Given the description of an element on the screen output the (x, y) to click on. 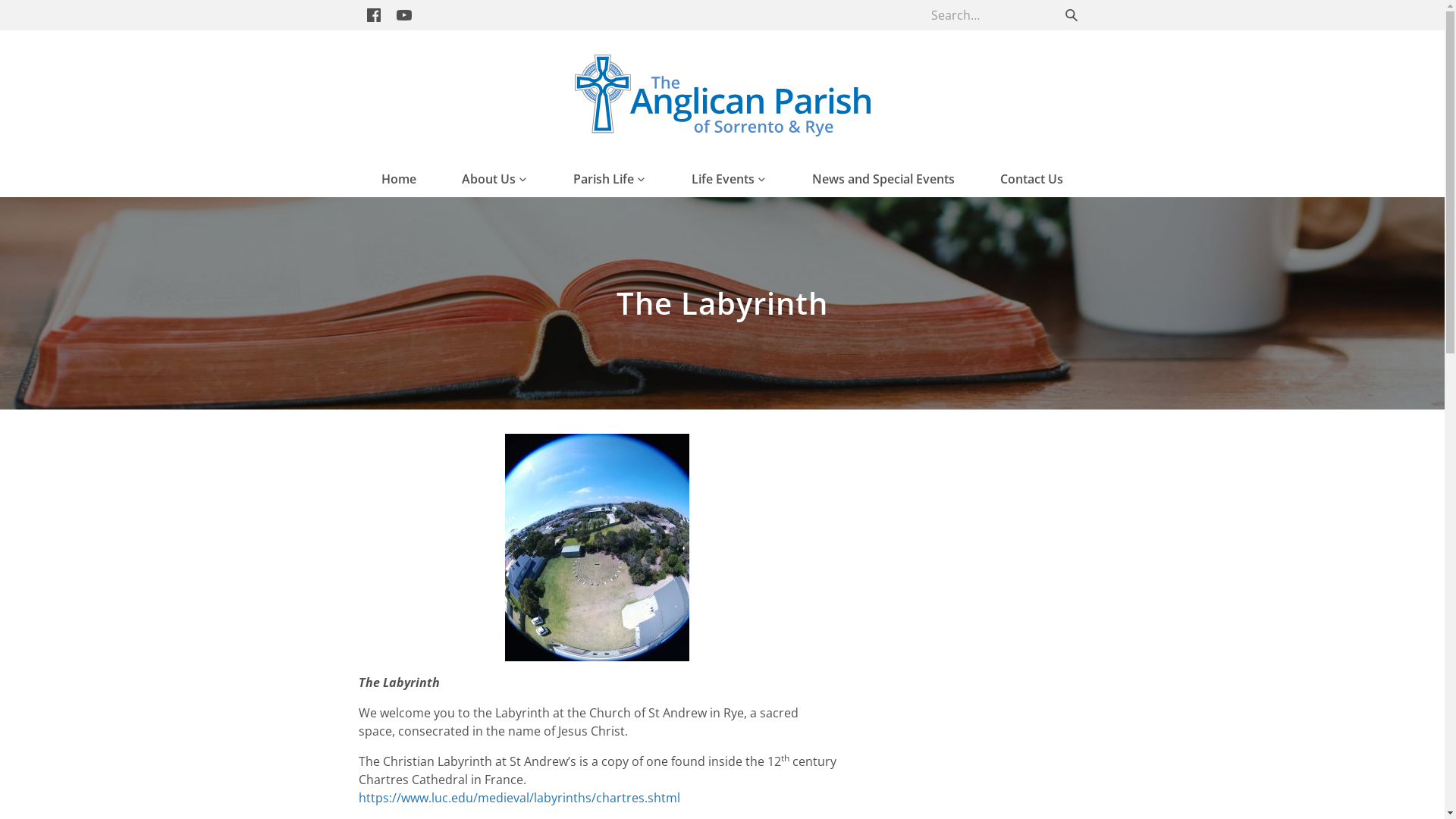
Life Events Element type: text (728, 178)
News and Special Events Element type: text (883, 178)
Home Element type: text (398, 178)
Parish Life Element type: text (609, 178)
Contact Us Element type: text (1031, 178)
https://www.luc.edu/medieval/labyrinths/chartres.shtml Element type: text (518, 797)
Search Element type: hover (1070, 15)
About Us Element type: text (494, 178)
